Given the description of an element on the screen output the (x, y) to click on. 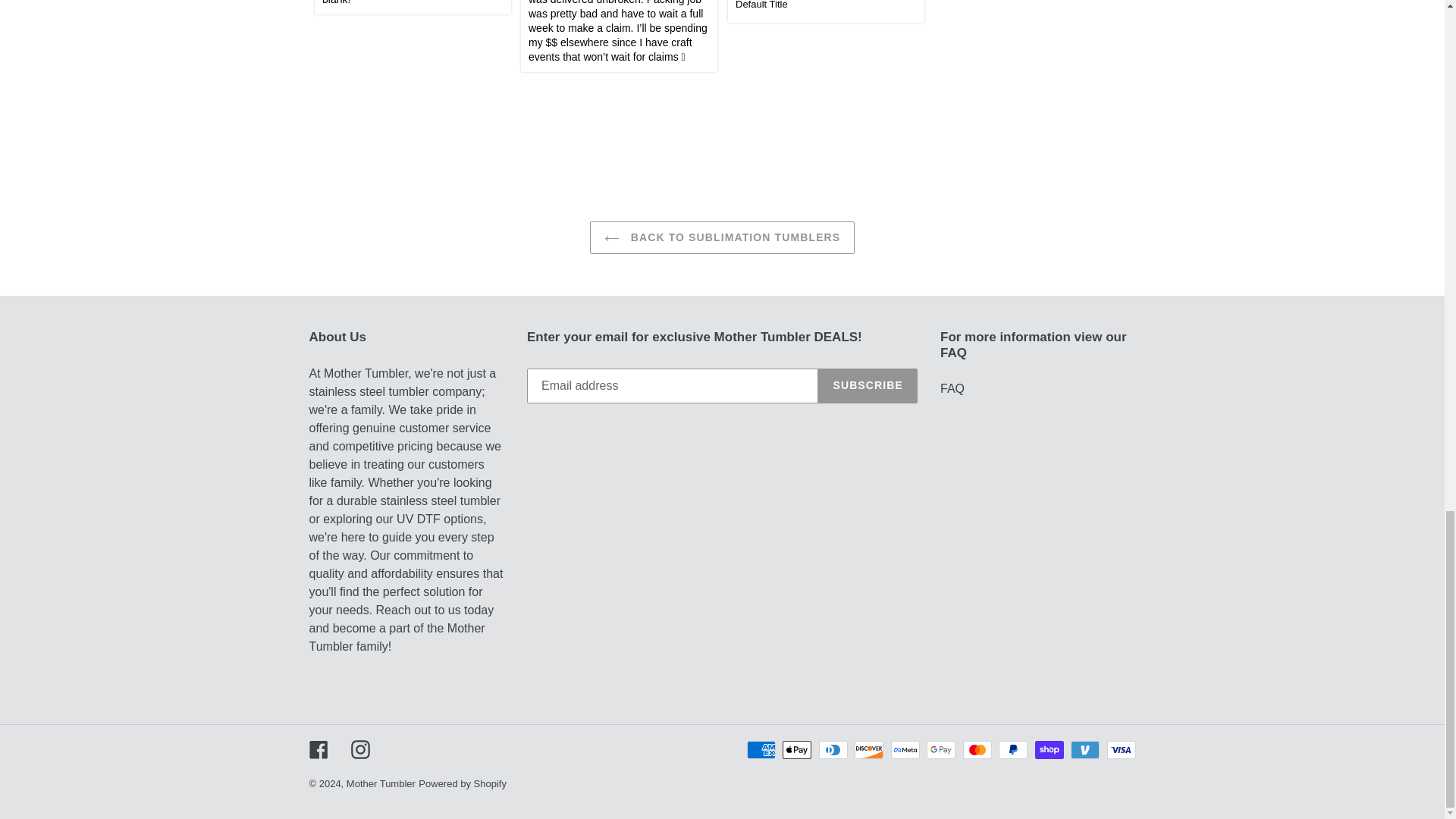
Product reviews widget (721, 79)
